Given the description of an element on the screen output the (x, y) to click on. 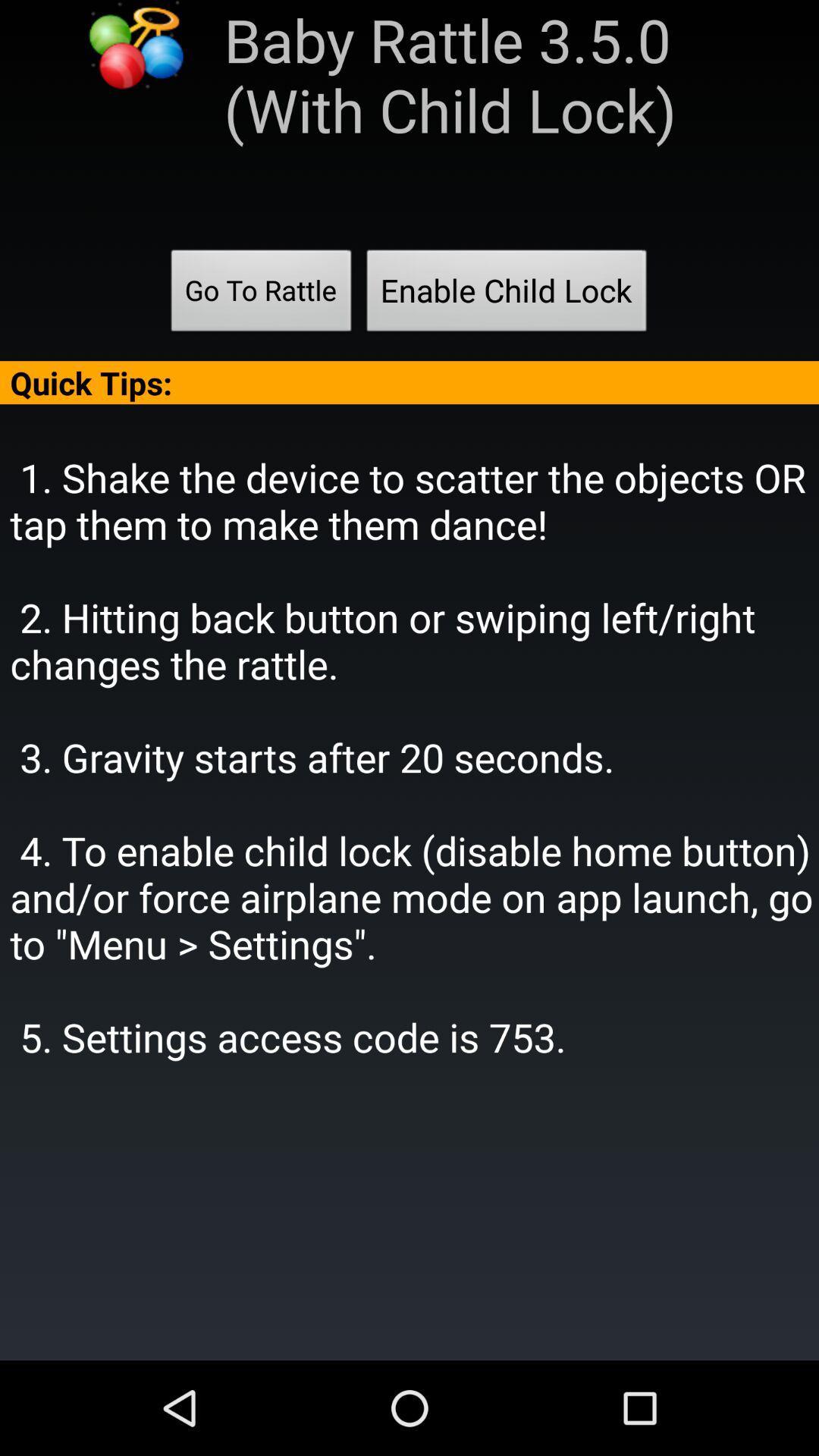
turn off icon to the left of the enable child lock (261, 294)
